Given the description of an element on the screen output the (x, y) to click on. 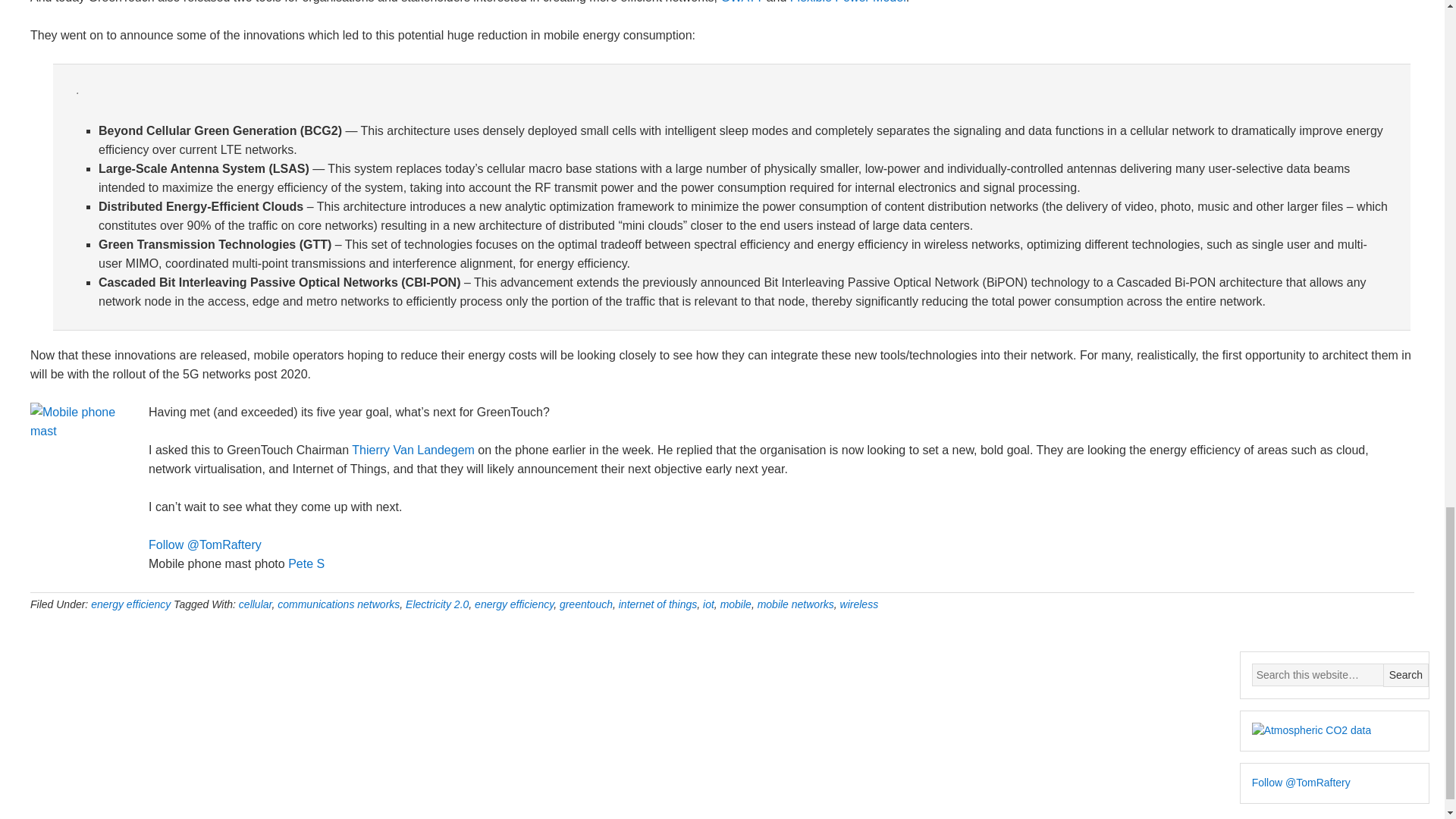
Search (1405, 675)
Earth's latest data for atmospheric CO2 (1311, 730)
